Given the description of an element on the screen output the (x, y) to click on. 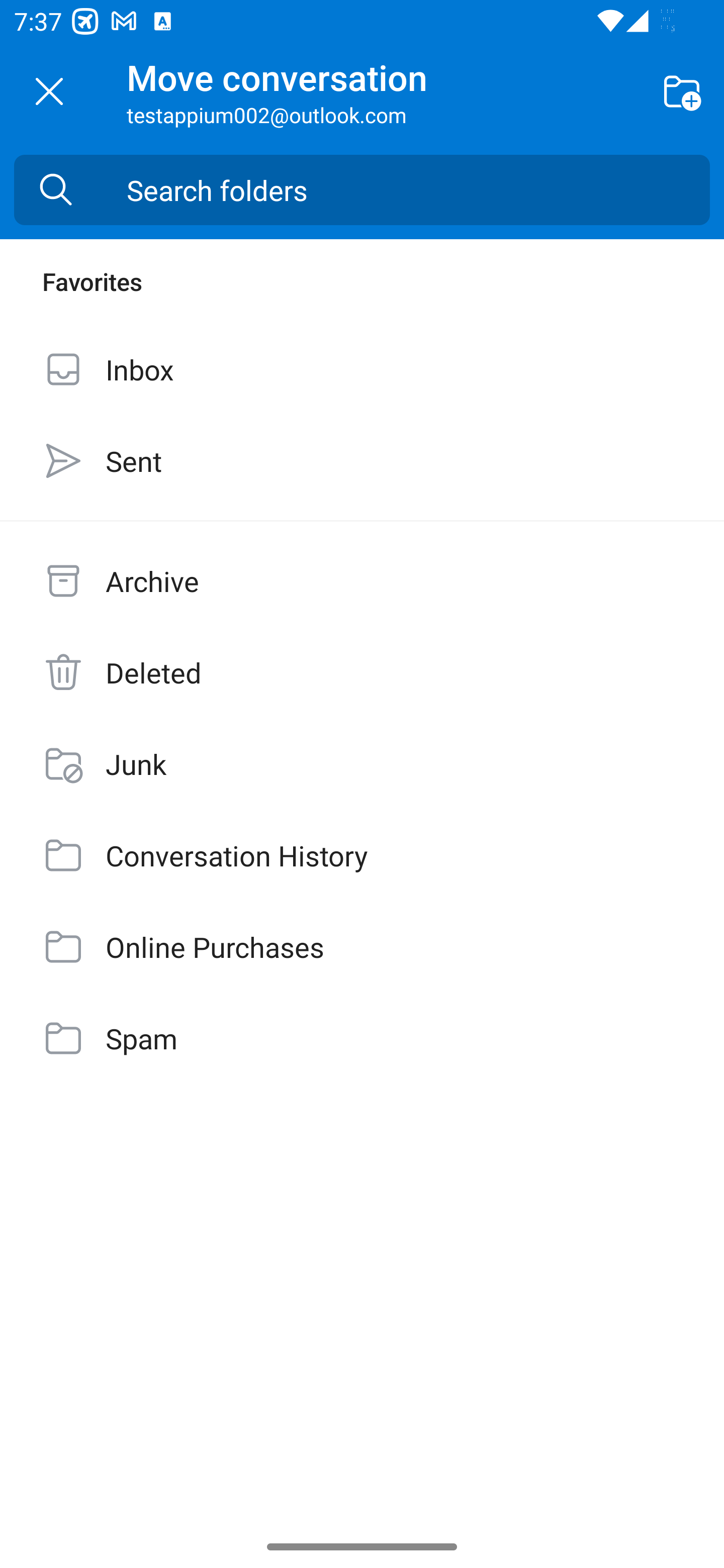
Move conversation, Cancel (49, 91)
Create new folder (681, 90)
Search folders (418, 190)
Inbox (362, 369)
Sent (362, 460)
Archive (362, 580)
Deleted (362, 672)
Junk (362, 763)
Conversation History (362, 855)
Online Purchases (362, 946)
Spam (362, 1037)
